Given the description of an element on the screen output the (x, y) to click on. 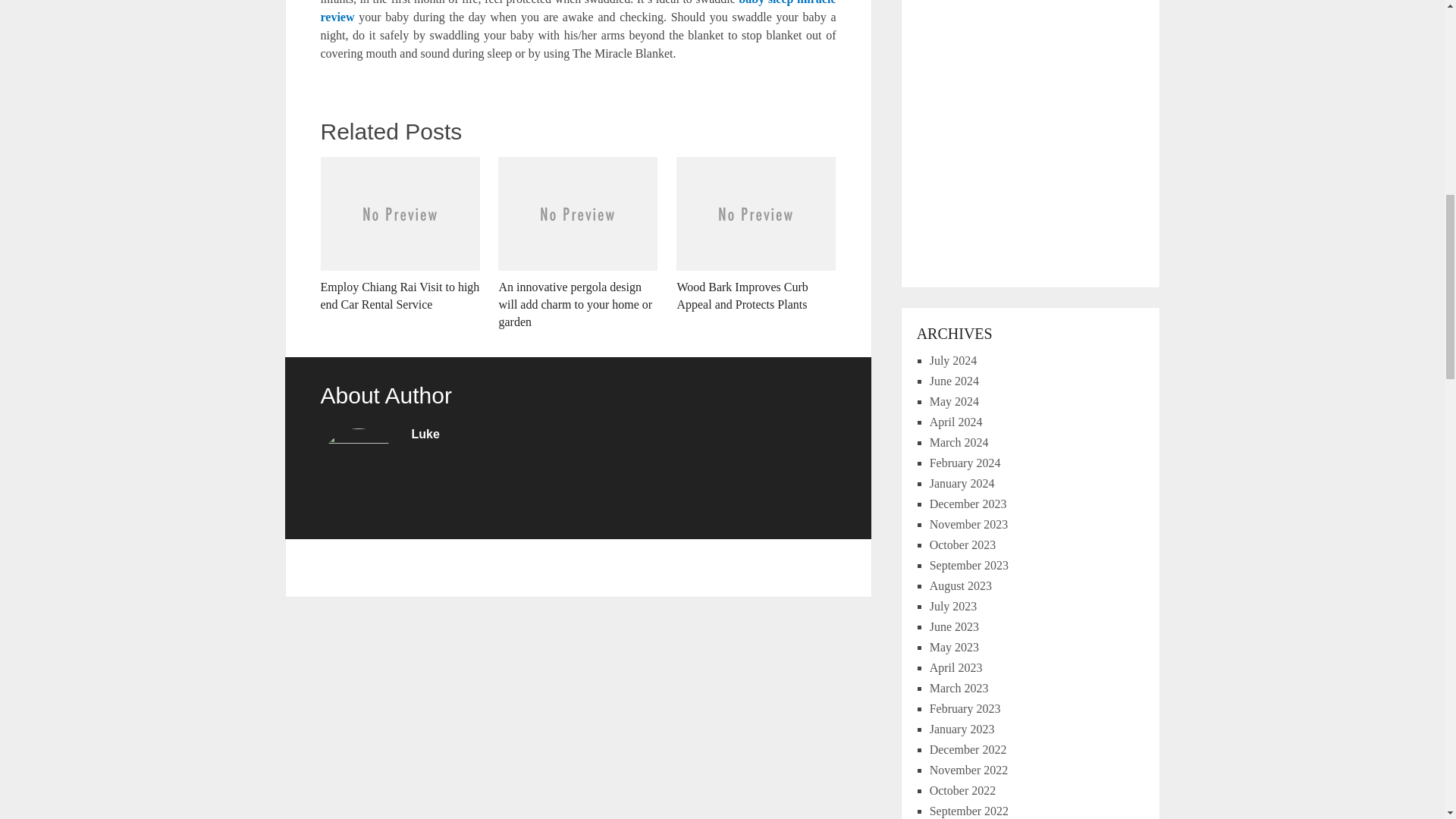
Wood Bark Improves Curb Appeal and Protects Plants (756, 234)
Wood Bark Improves Curb Appeal and Protects Plants (756, 234)
July 2023 (953, 605)
Employ Chiang Rai Visit to high end Car Rental Service (399, 234)
March 2024 (959, 441)
October 2023 (962, 544)
June 2024 (954, 380)
January 2024 (962, 482)
July 2024 (953, 359)
November 2023 (969, 523)
February 2024 (965, 462)
April 2024 (956, 421)
baby sleep miracle review (577, 11)
